Given the description of an element on the screen output the (x, y) to click on. 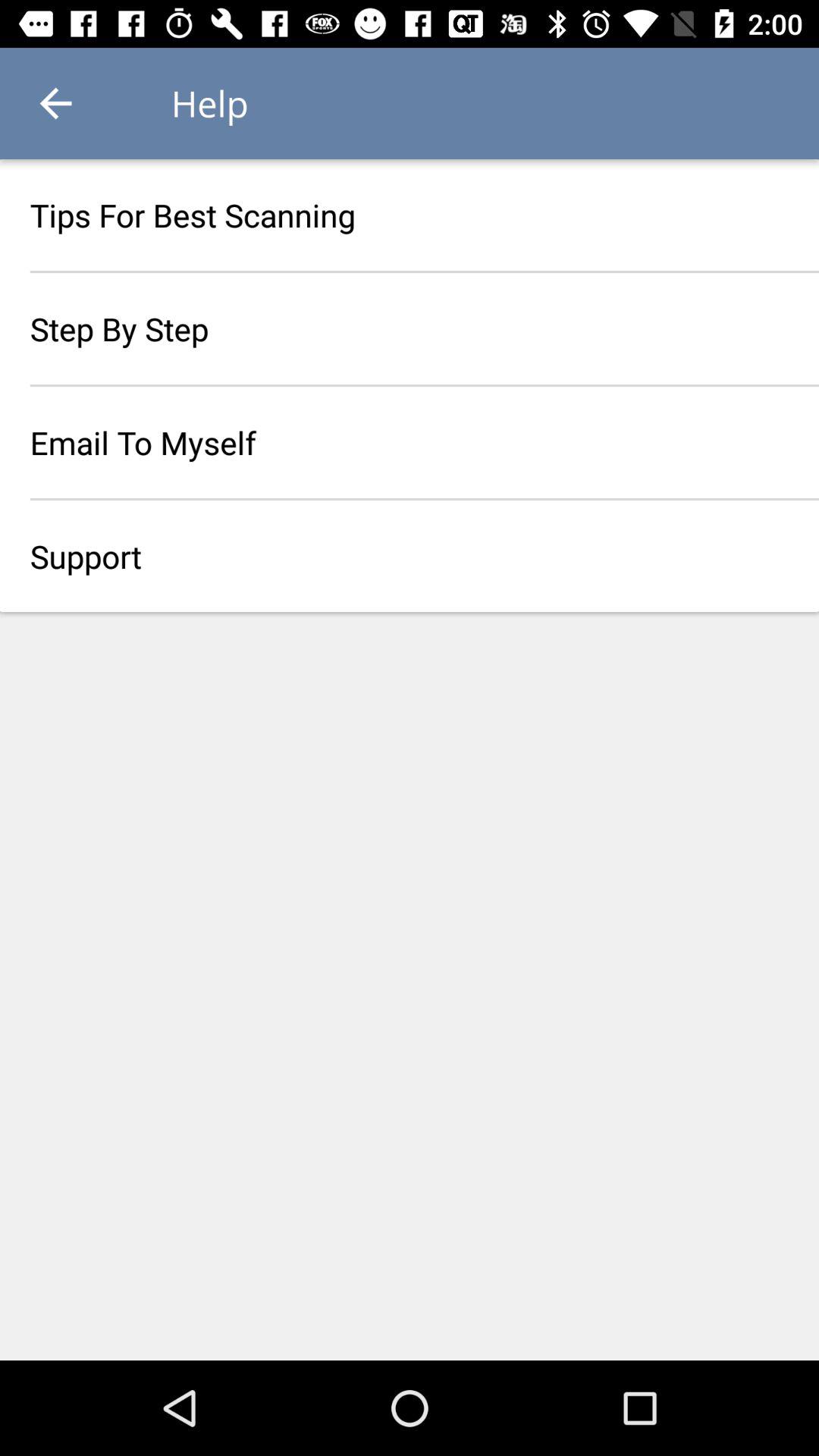
tap icon at the center (409, 555)
